Given the description of an element on the screen output the (x, y) to click on. 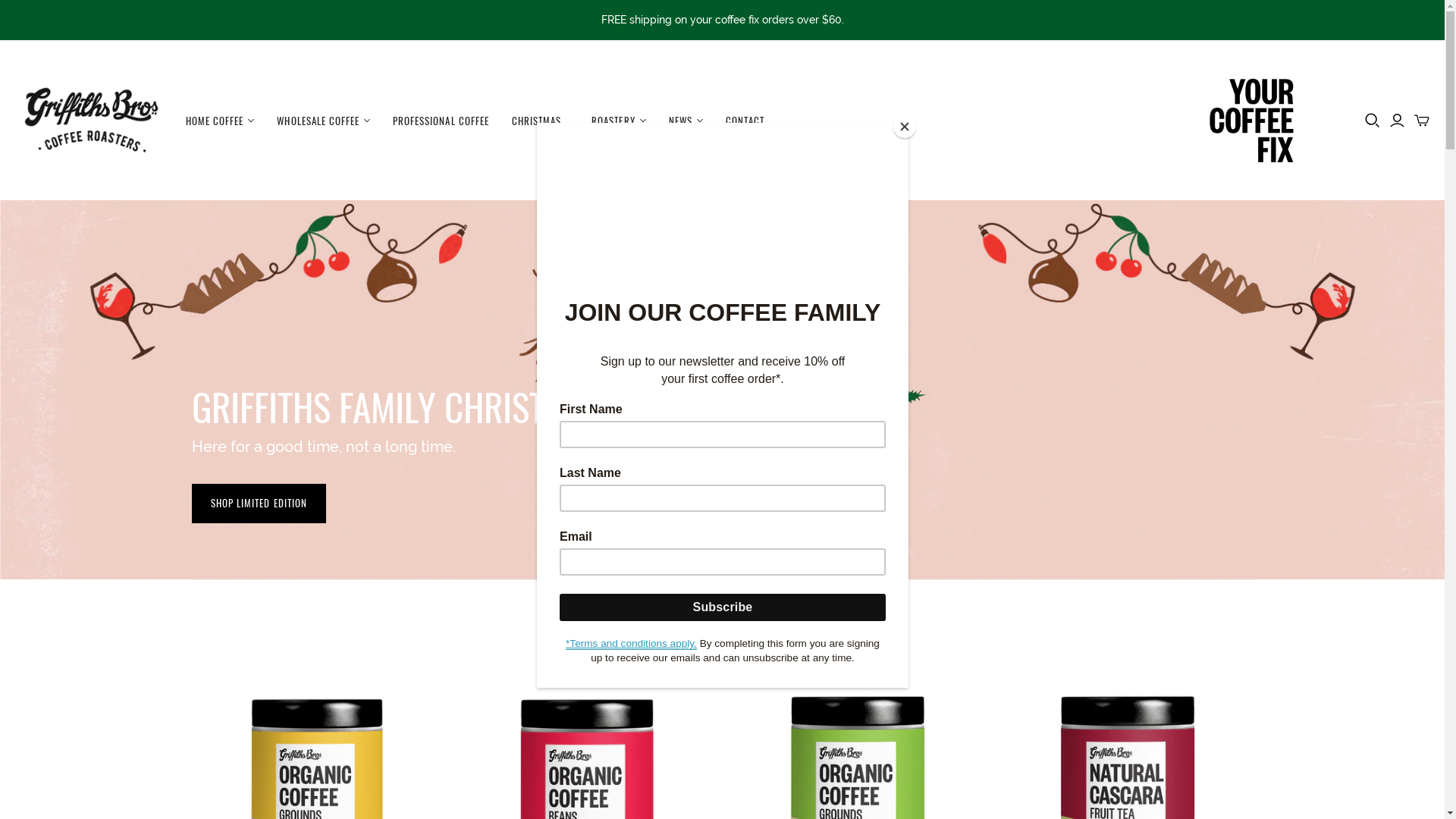
FREE shipping on your coffee fix orders over $60. Element type: text (722, 20)
WHOLESALE COFFEE Element type: text (323, 120)
ROASTERY Element type: text (618, 120)
CONTACT Element type: text (744, 120)
PROFESSIONAL COFFEE Element type: text (440, 120)
HOME COFFEE Element type: text (219, 120)
NEWS Element type: text (685, 120)
